Given the description of an element on the screen output the (x, y) to click on. 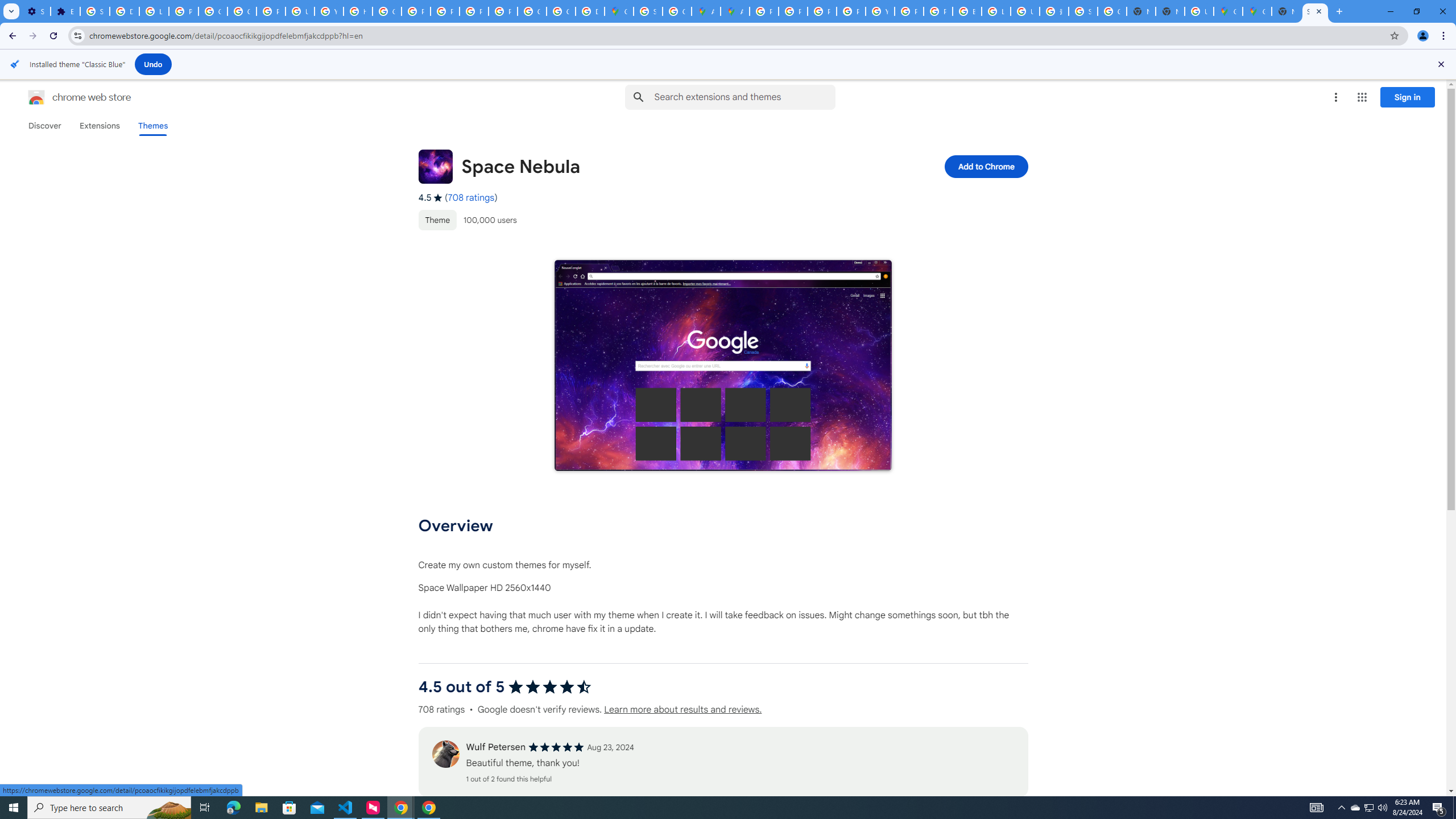
Undo (153, 64)
Learn how to find your photos - Google Photos Help (153, 11)
Learn more about results and reviews. (682, 709)
Google Account Help (212, 11)
5 out of 5 stars (556, 747)
Settings - On startup (35, 11)
Privacy Help Center - Policies Help (415, 11)
Google Maps (619, 11)
Chrome Web Store logo chrome web store (67, 97)
